Given the description of an element on the screen output the (x, y) to click on. 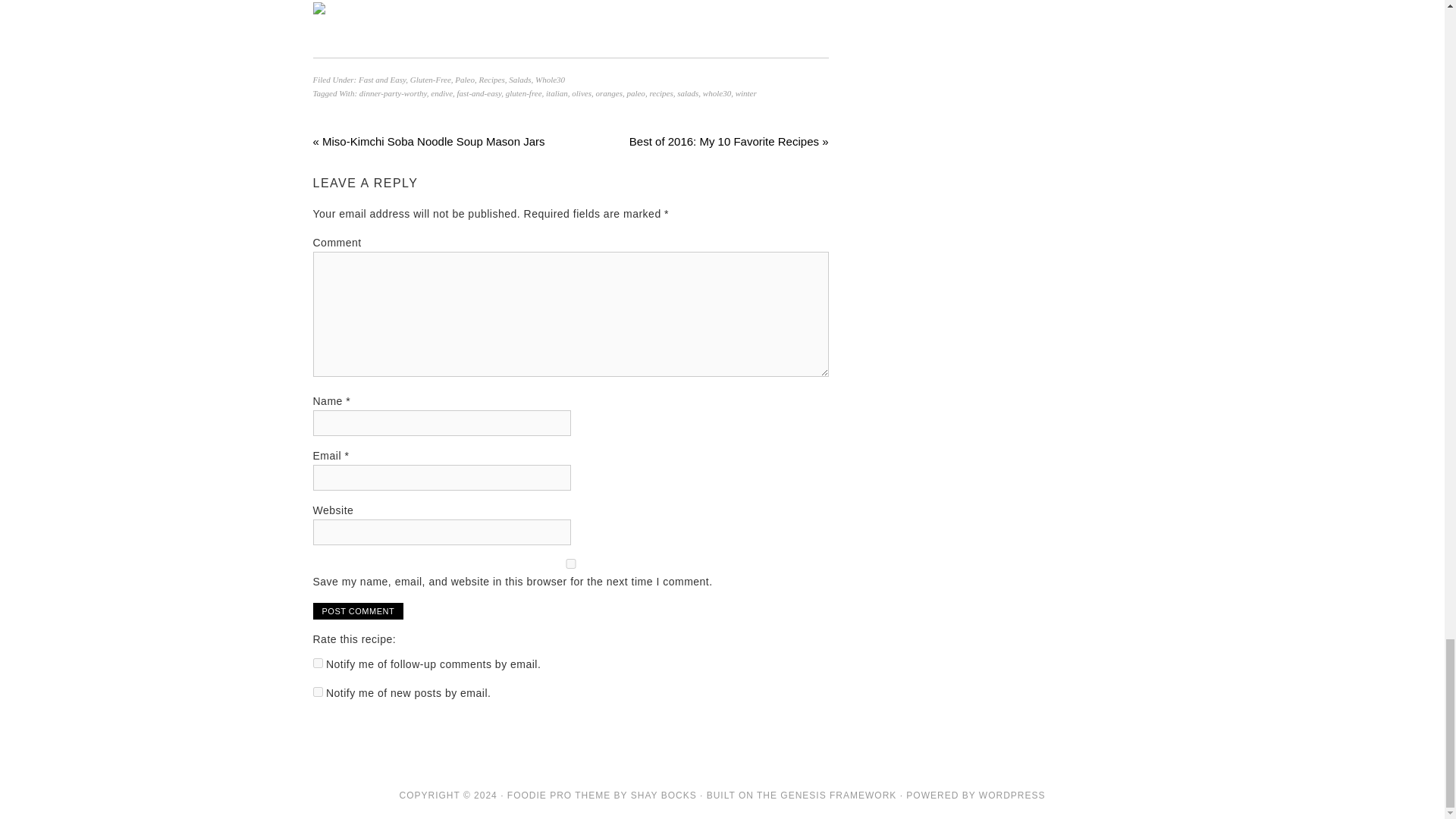
Whole30 (549, 79)
winter (746, 92)
Salads (519, 79)
salads (687, 92)
recipes (660, 92)
subscribe (317, 663)
fast-and-easy (479, 92)
Paleo (464, 79)
subscribe (317, 691)
oranges (608, 92)
